Given the description of an element on the screen output the (x, y) to click on. 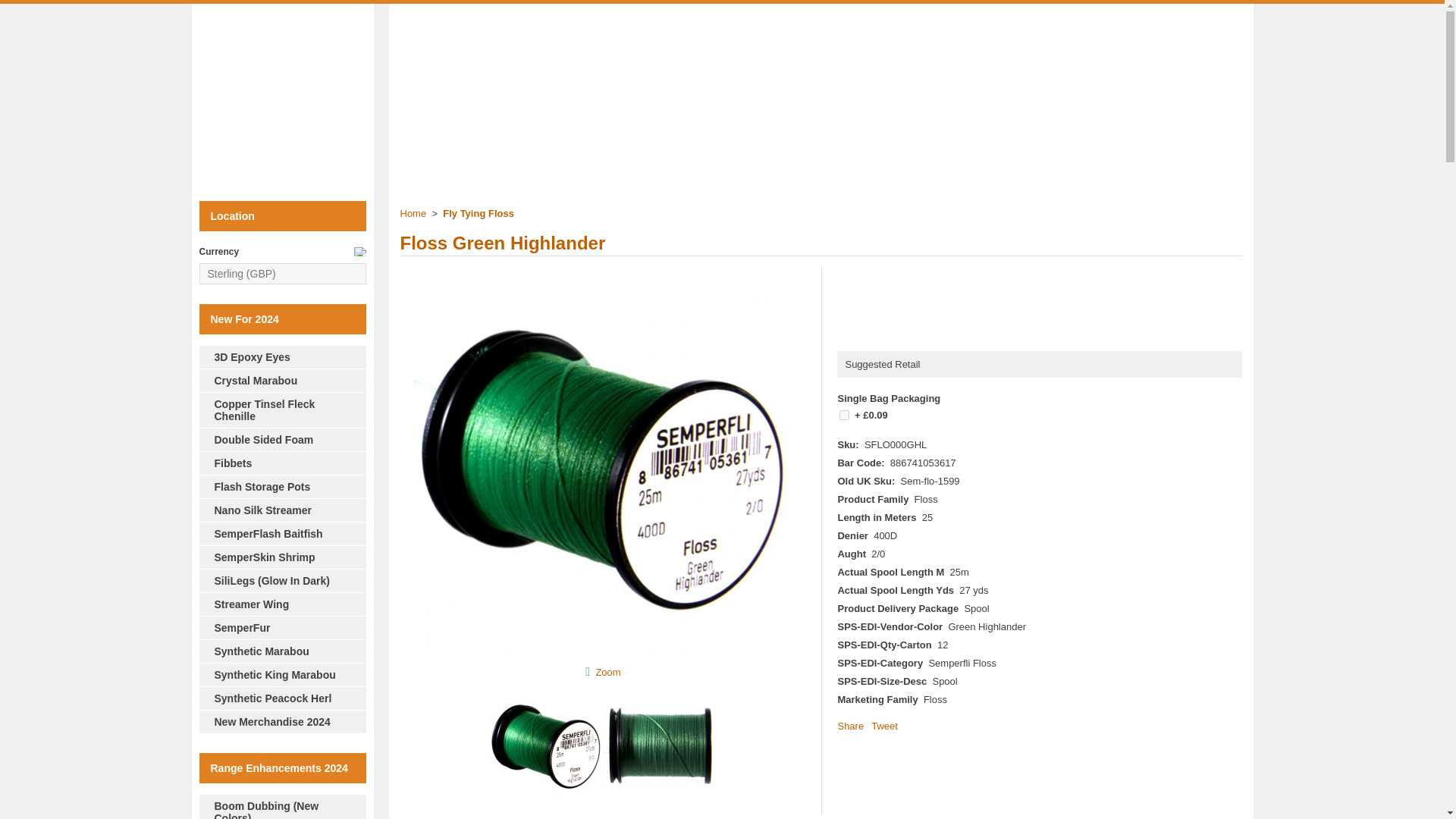
3D Epoxy Eyes (281, 356)
Synthetic Peacock Herl (281, 698)
Synthetic King Marabou (281, 674)
Copper Tinsel Fleck Chenille (281, 409)
SemperFlash Baitfish (281, 533)
Nano Silk Streamer (281, 509)
New Merchandise 2024 (281, 721)
Floss Green Highlander (607, 671)
Floss Green Highlander (602, 654)
